Given the description of an element on the screen output the (x, y) to click on. 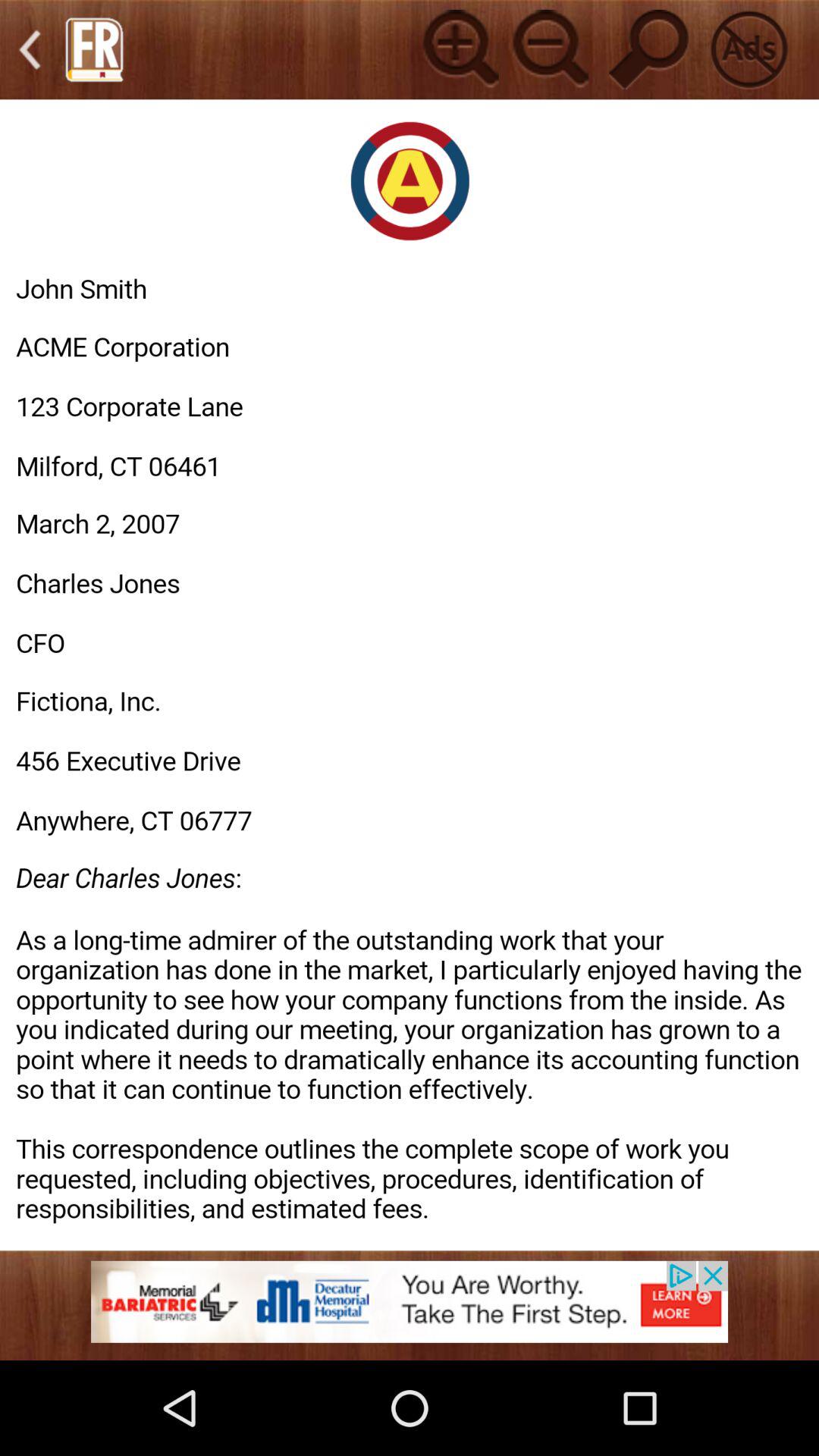
go to search (648, 49)
